Given the description of an element on the screen output the (x, y) to click on. 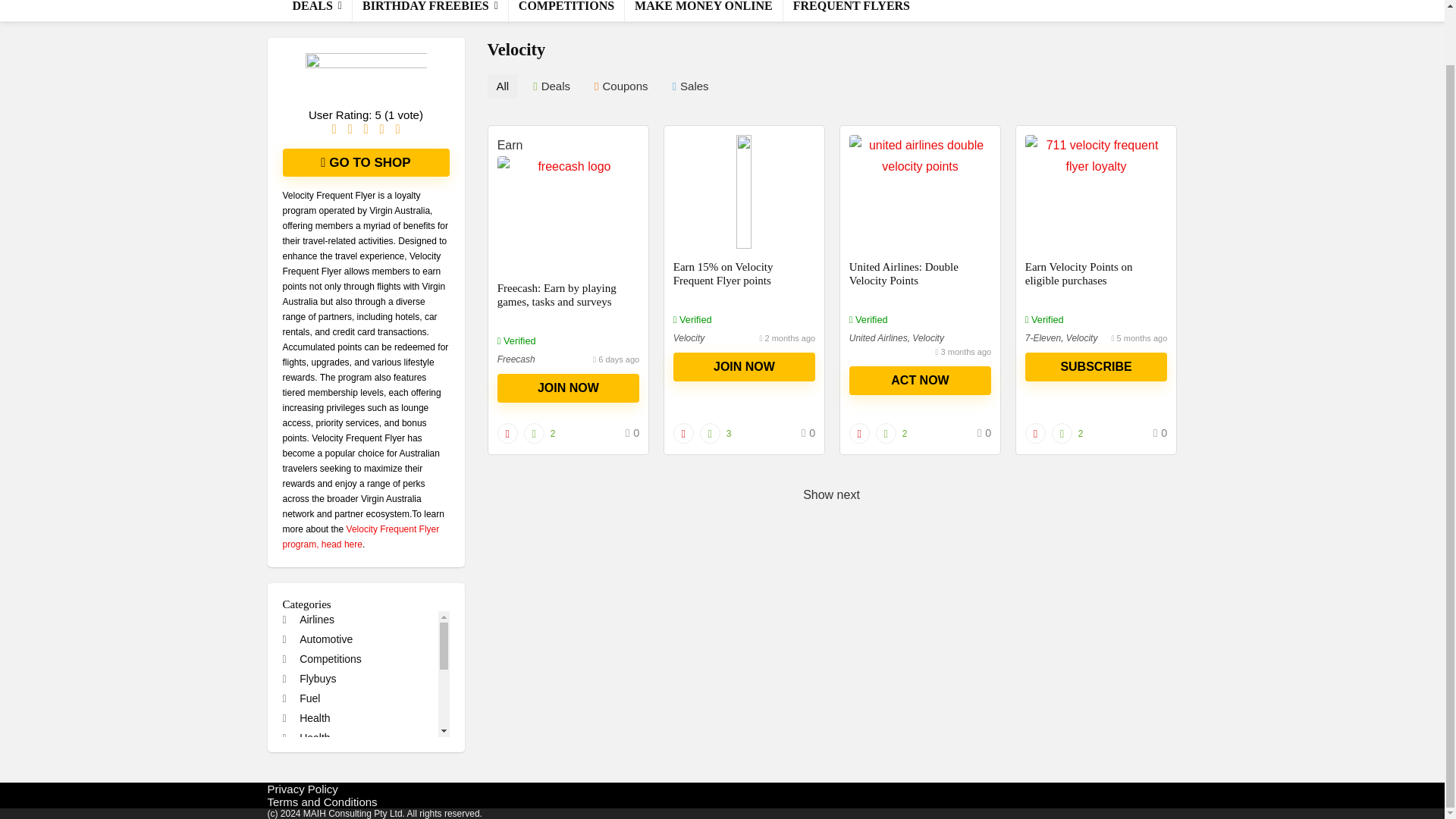
Vote up (534, 433)
Insurance (314, 757)
Airlines (308, 619)
Loyalty (307, 776)
Health (306, 717)
COMPETITIONS (566, 10)
MAKE MONEY ONLINE (703, 10)
Vote down (683, 433)
Vote down (507, 433)
Vote up (886, 433)
Vote up (1061, 433)
Competitions (321, 658)
Flybuys (309, 678)
Fuel (301, 698)
Vote up (710, 433)
